Given the description of an element on the screen output the (x, y) to click on. 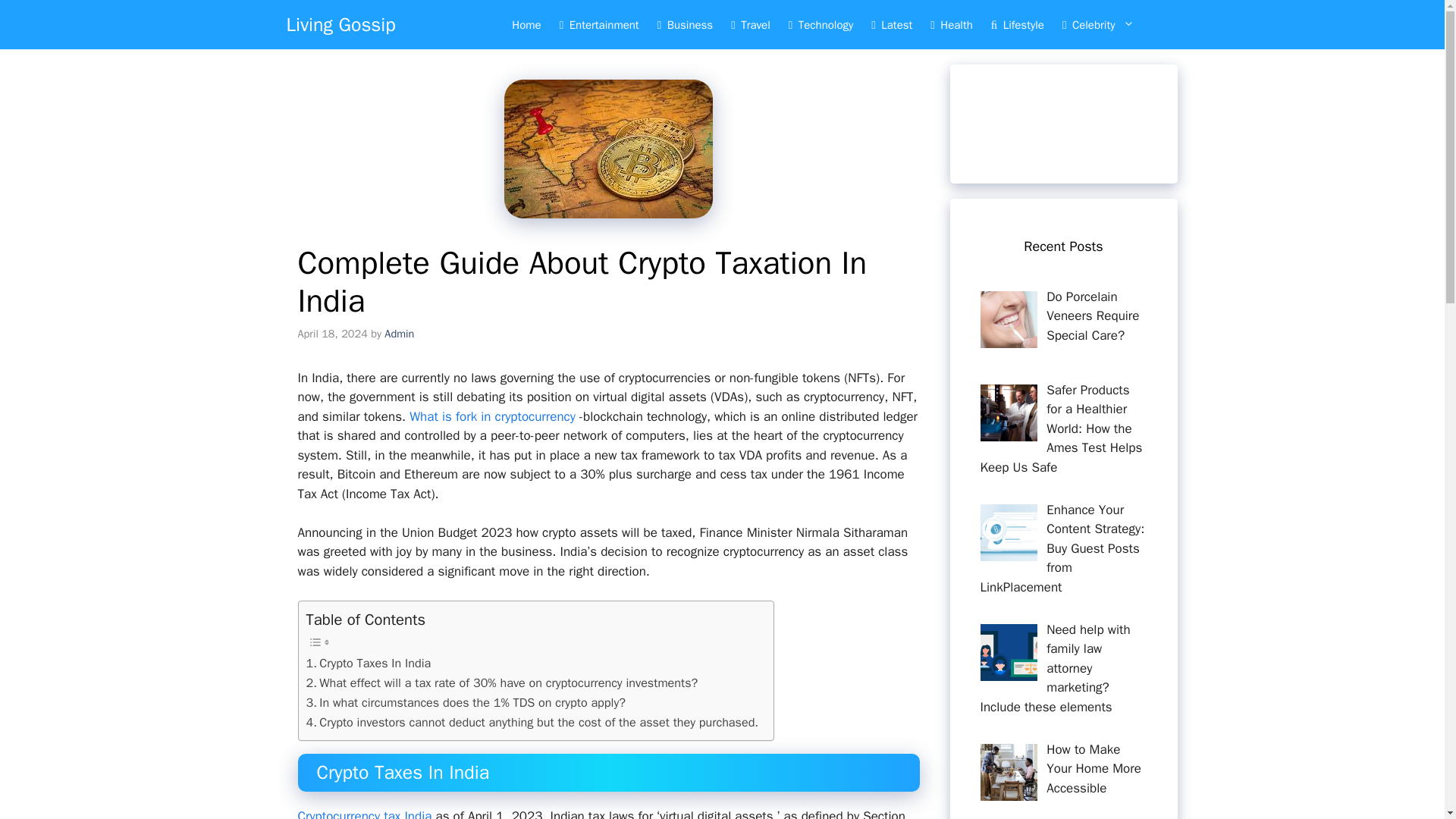
How to Make Your Home More Accessible (1093, 769)
Health (951, 23)
Living Gossip (341, 24)
Latest (891, 23)
What is fork in cryptocurrency (492, 416)
Home (526, 23)
Business (684, 23)
Travel (750, 23)
View all posts by admin (398, 333)
Entertainment (598, 23)
Celebrity (1105, 23)
Lifestyle (1016, 23)
Crypto Taxes In India (367, 663)
